Given the description of an element on the screen output the (x, y) to click on. 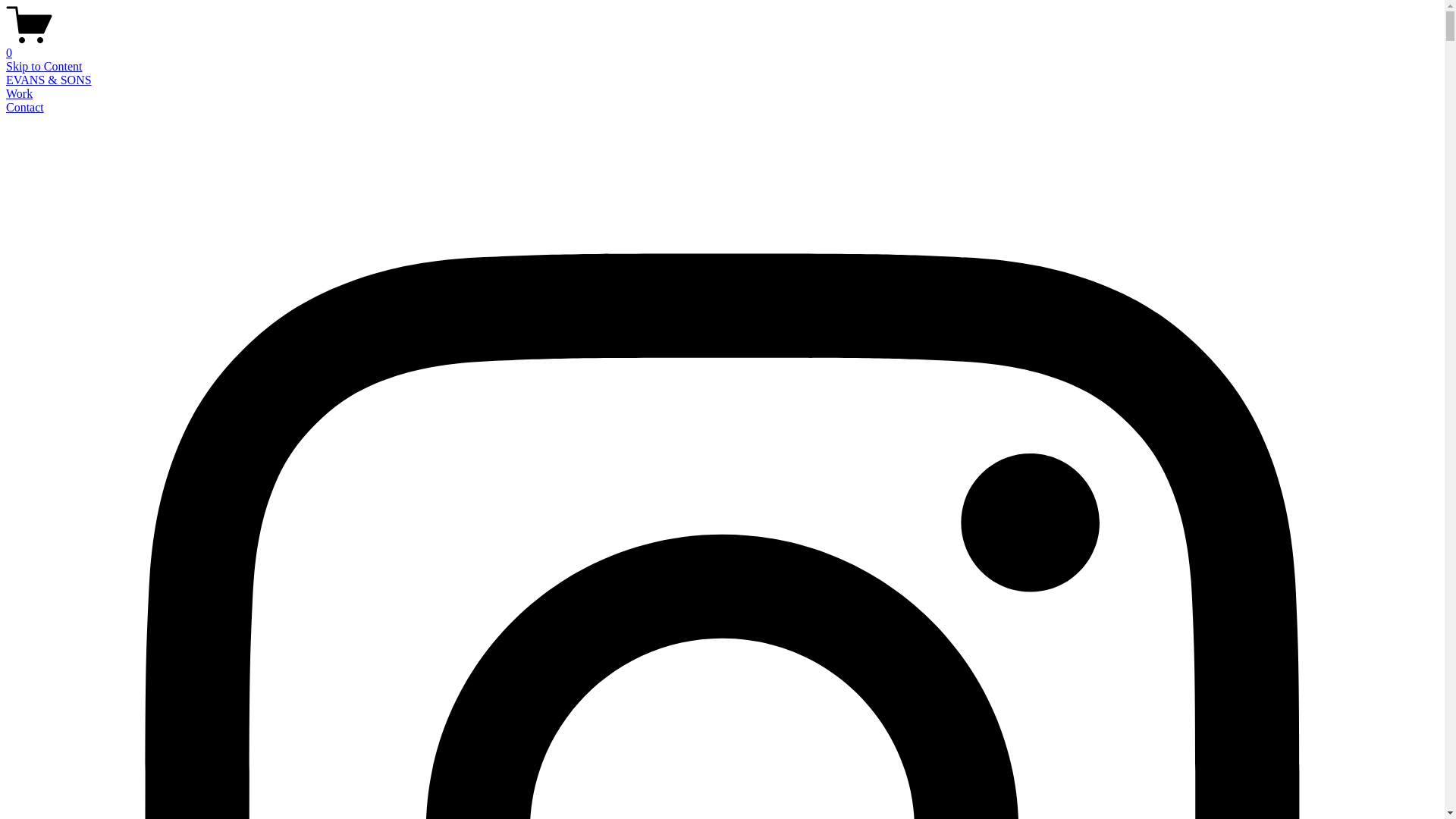
Contact Element type: text (24, 106)
0 Element type: text (722, 45)
Work Element type: text (19, 93)
EVANS & SONS Element type: text (48, 79)
Skip to Content Element type: text (43, 65)
